Given the description of an element on the screen output the (x, y) to click on. 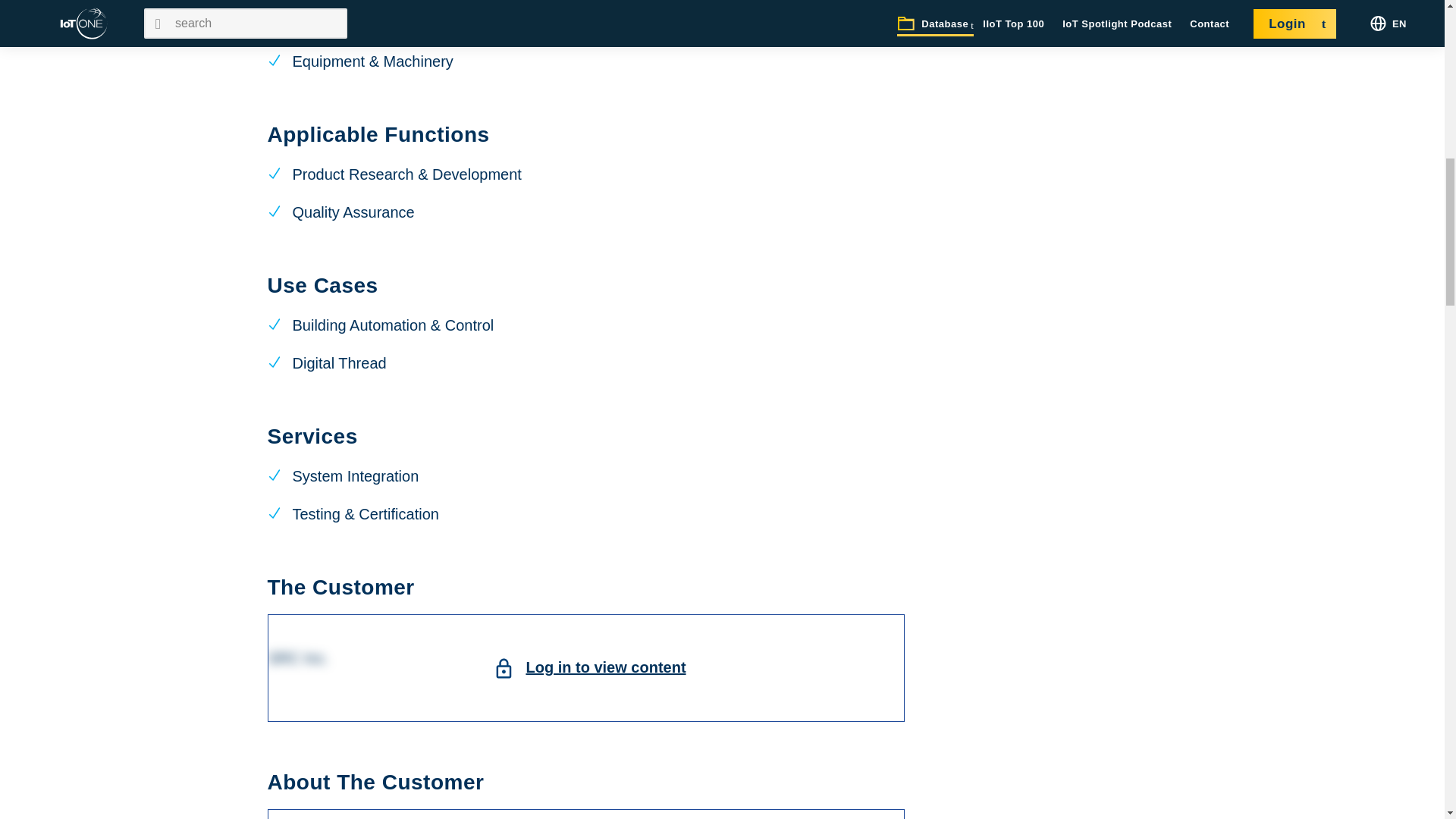
Log in to view content (605, 667)
